Given the description of an element on the screen output the (x, y) to click on. 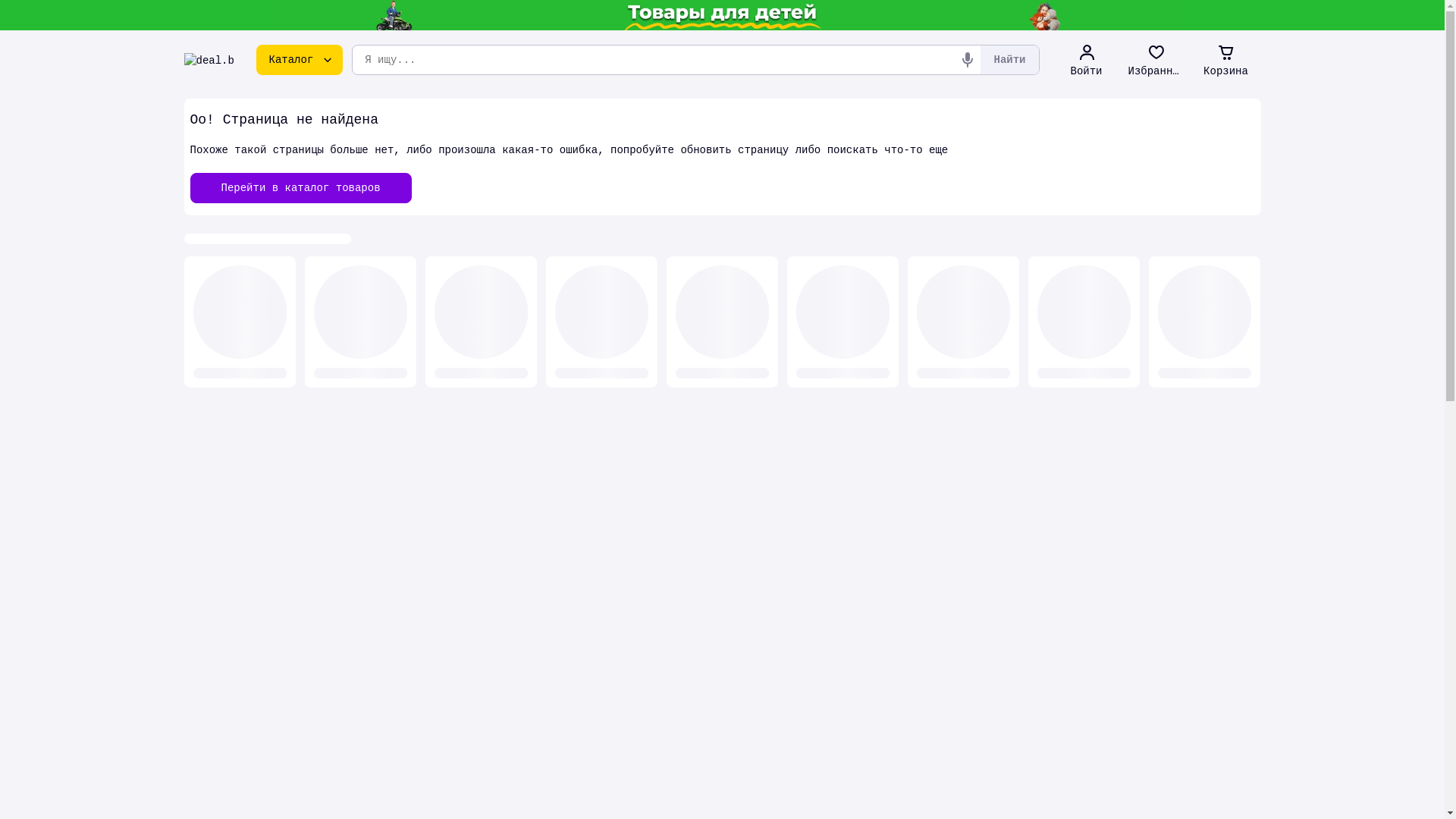
deal.by Element type: hover (208, 59)
